Given the description of an element on the screen output the (x, y) to click on. 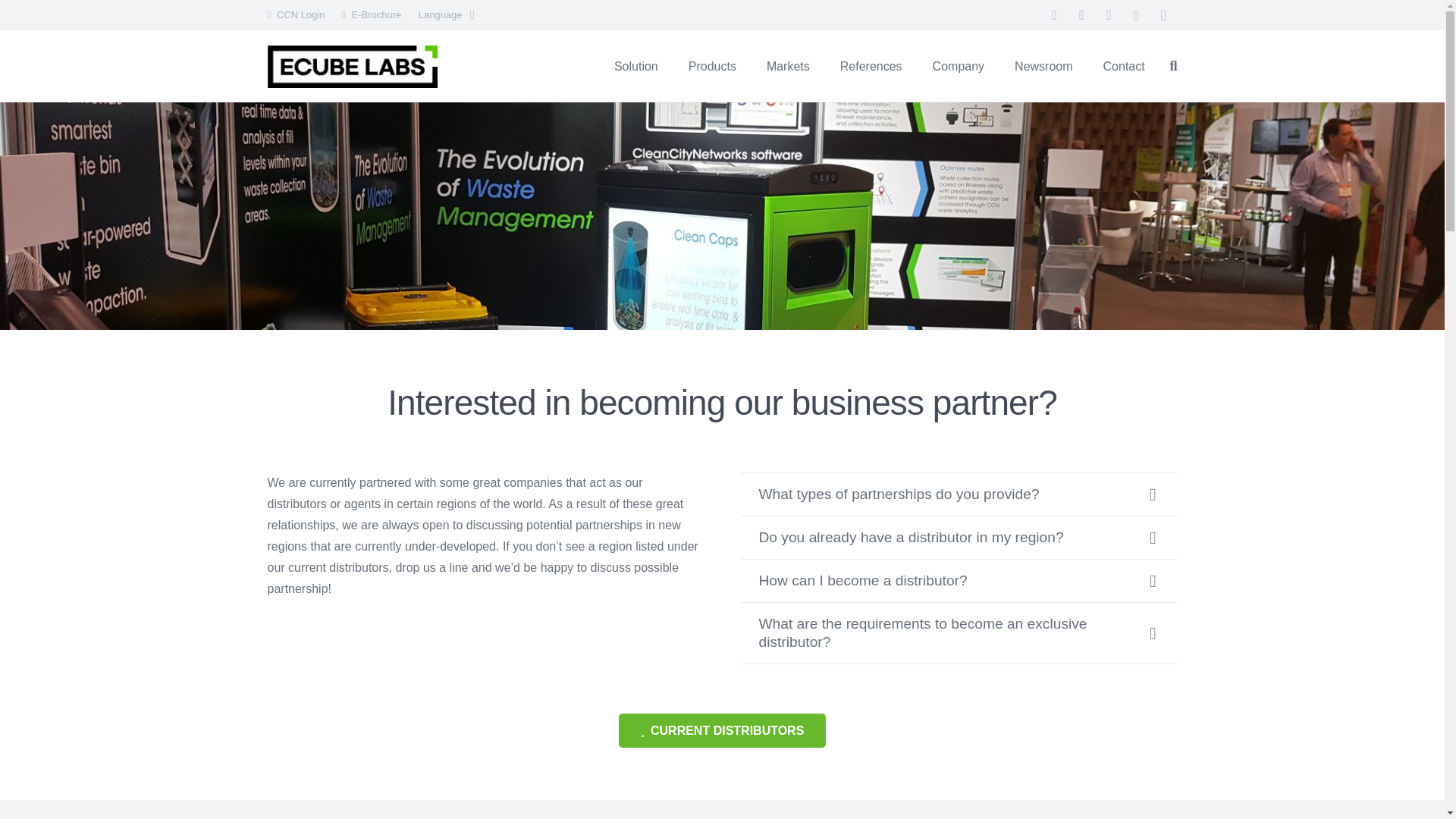
Markets (788, 66)
Company (957, 66)
YouTube (1136, 14)
Newsroom (1042, 66)
Products (711, 66)
Instagram (1163, 14)
Facebook (1054, 14)
Twitter (1080, 14)
References (871, 66)
Contact (1123, 66)
Solution (635, 66)
LinkedIn (1108, 14)
E-Brochure (376, 14)
CCN Login (300, 14)
Language (446, 14)
